Given the description of an element on the screen output the (x, y) to click on. 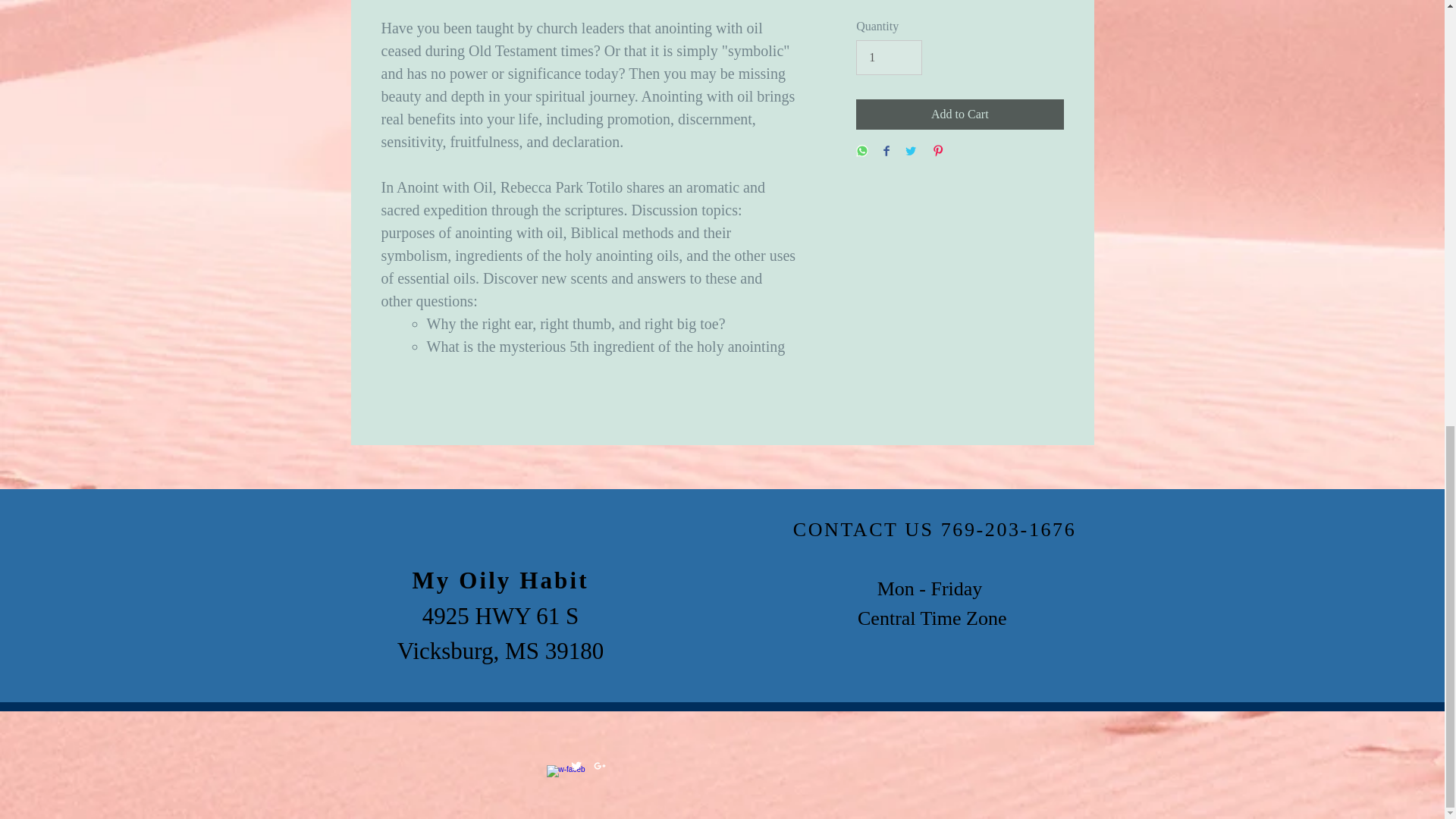
1 (888, 57)
